Given the description of an element on the screen output the (x, y) to click on. 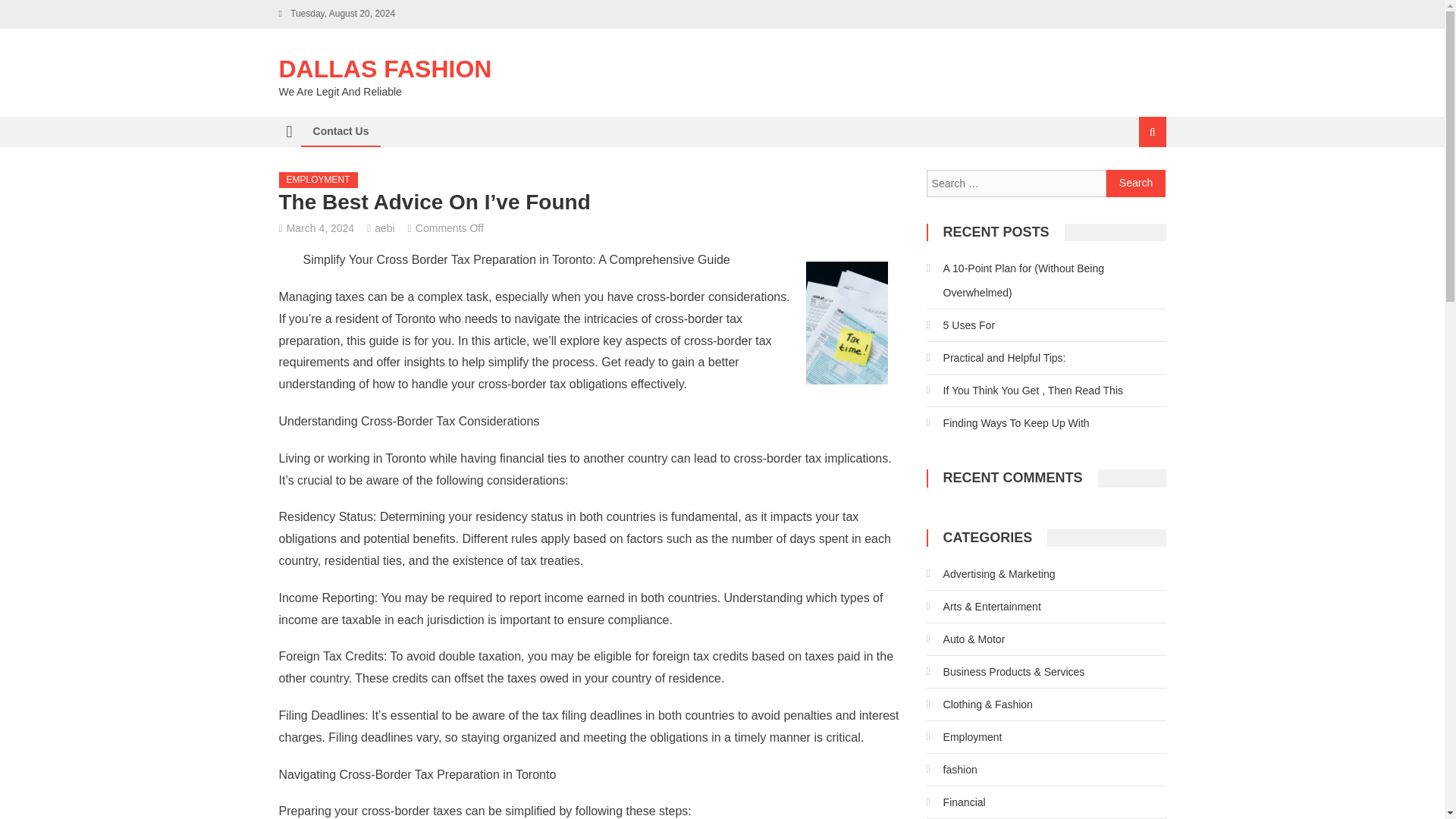
Search (1136, 183)
Search (1136, 183)
5 Uses For (960, 324)
Finding Ways To Keep Up With (1007, 422)
Contact Us (340, 131)
DALLAS FASHION (385, 68)
If You Think You Get , Then Read This (1024, 390)
Search (1136, 183)
March 4, 2024 (320, 227)
Search (1133, 182)
